Given the description of an element on the screen output the (x, y) to click on. 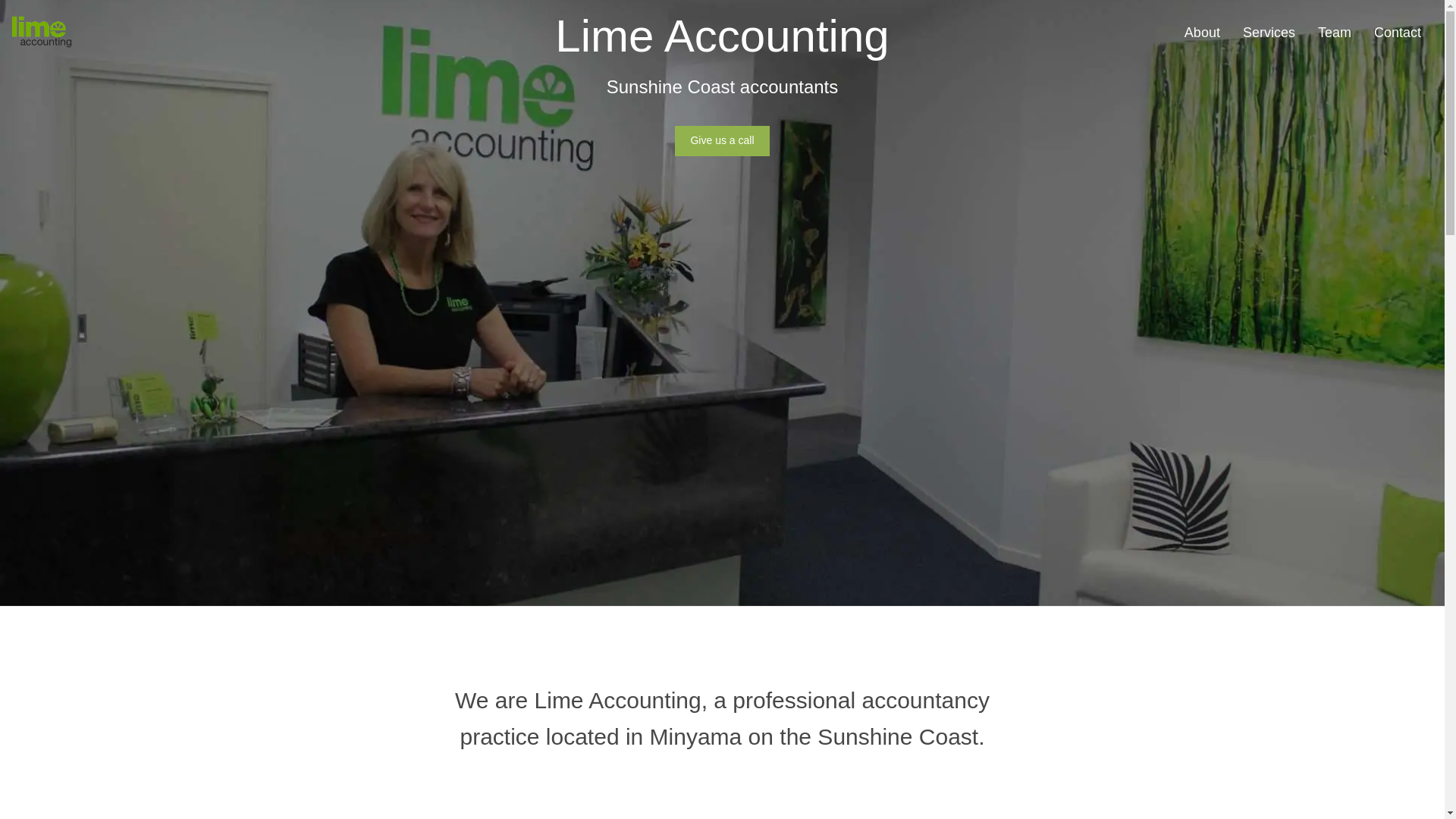
Team Element type: text (1334, 32)
About Element type: text (1202, 32)
Sunshine Coast Accountants | Lime Accounting Element type: hover (42, 32)
Contact Element type: text (1397, 32)
Services Element type: text (1268, 32)
Give us a call Element type: text (721, 140)
